Given the description of an element on the screen output the (x, y) to click on. 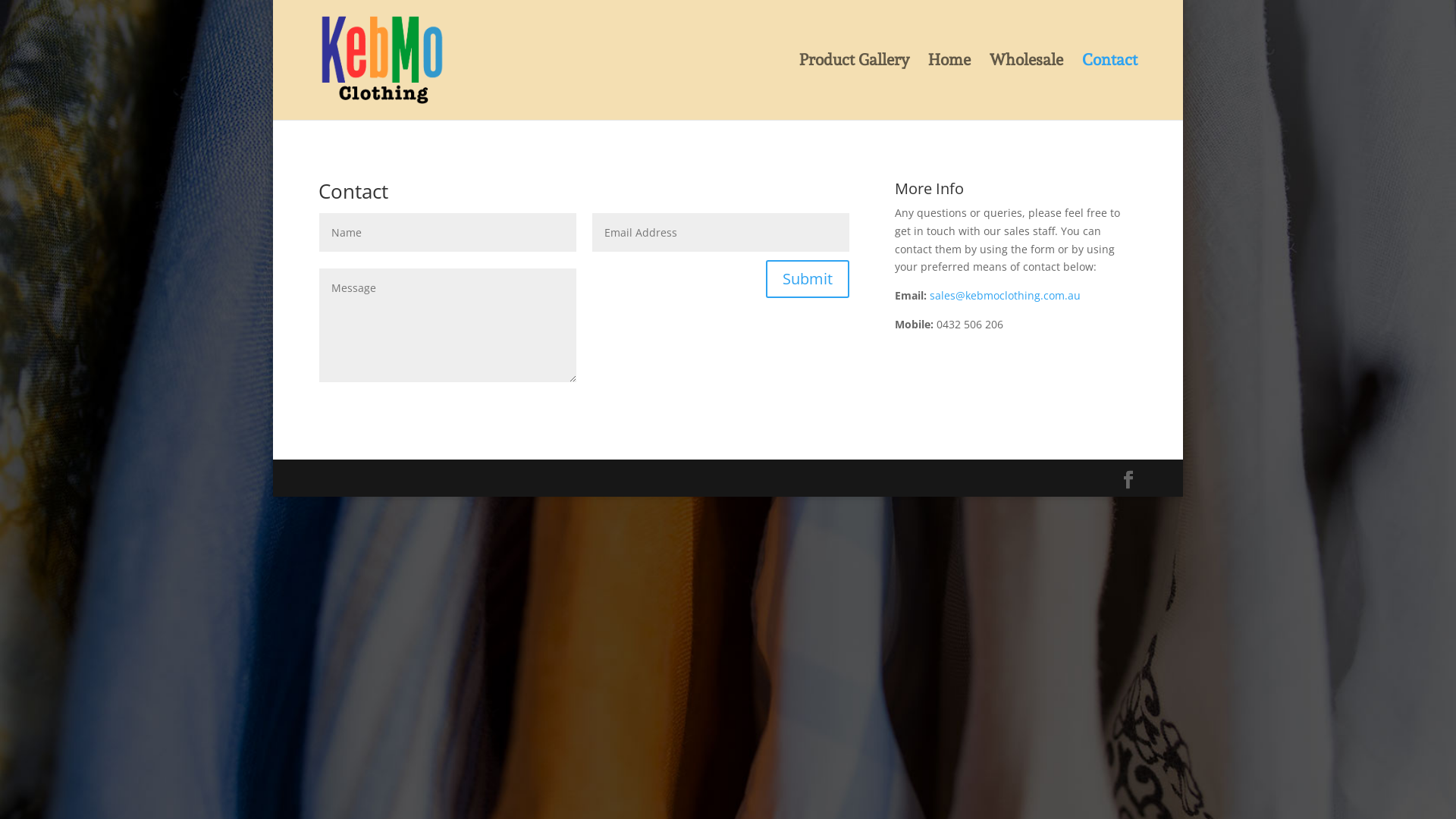
Contact Element type: text (1109, 86)
Home Element type: text (949, 86)
Wholesale Element type: text (1026, 86)
sales@kebmoclothing.com.au Element type: text (1004, 295)
Submit Element type: text (807, 279)
Product Gallery Element type: text (854, 86)
